Given the description of an element on the screen output the (x, y) to click on. 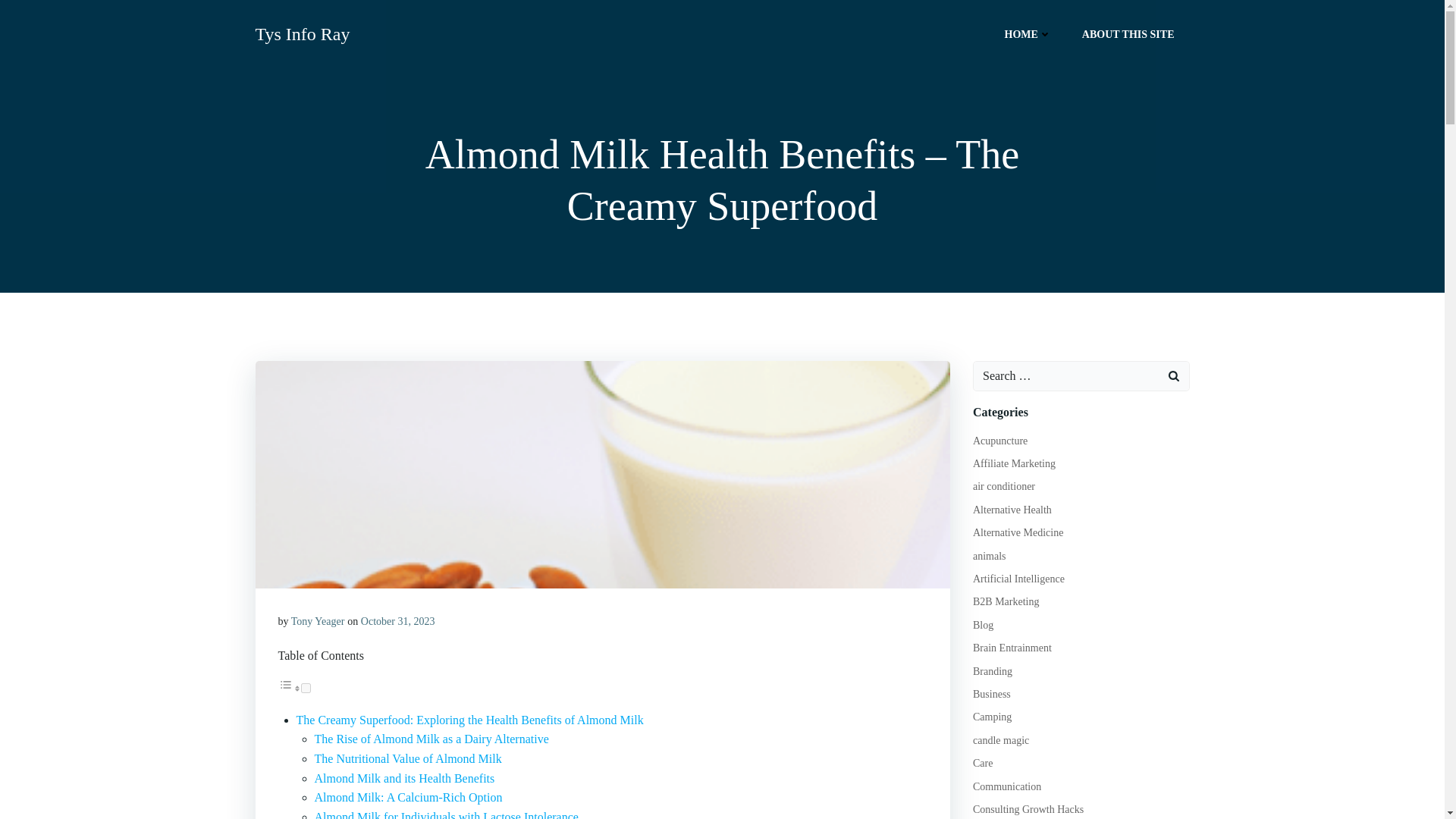
on (304, 687)
Almond Milk and its Health Benefits (404, 778)
Tony Yeager (318, 621)
The Rise of Almond Milk as a Dairy Alternative (431, 738)
The Nutritional Value of Almond Milk (407, 758)
Almond Milk for Individuals with Lactose Intolerance (446, 814)
Tys Info Ray (301, 33)
HOME (1027, 33)
The Rise of Almond Milk as a Dairy Alternative (431, 738)
Almond Milk and its Health Benefits (404, 778)
Almond Milk: A Calcium-Rich Option (408, 797)
Almond Milk: A Calcium-Rich Option (408, 797)
The Nutritional Value of Almond Milk (407, 758)
Almond Milk for Individuals with Lactose Intolerance (446, 814)
